Given the description of an element on the screen output the (x, y) to click on. 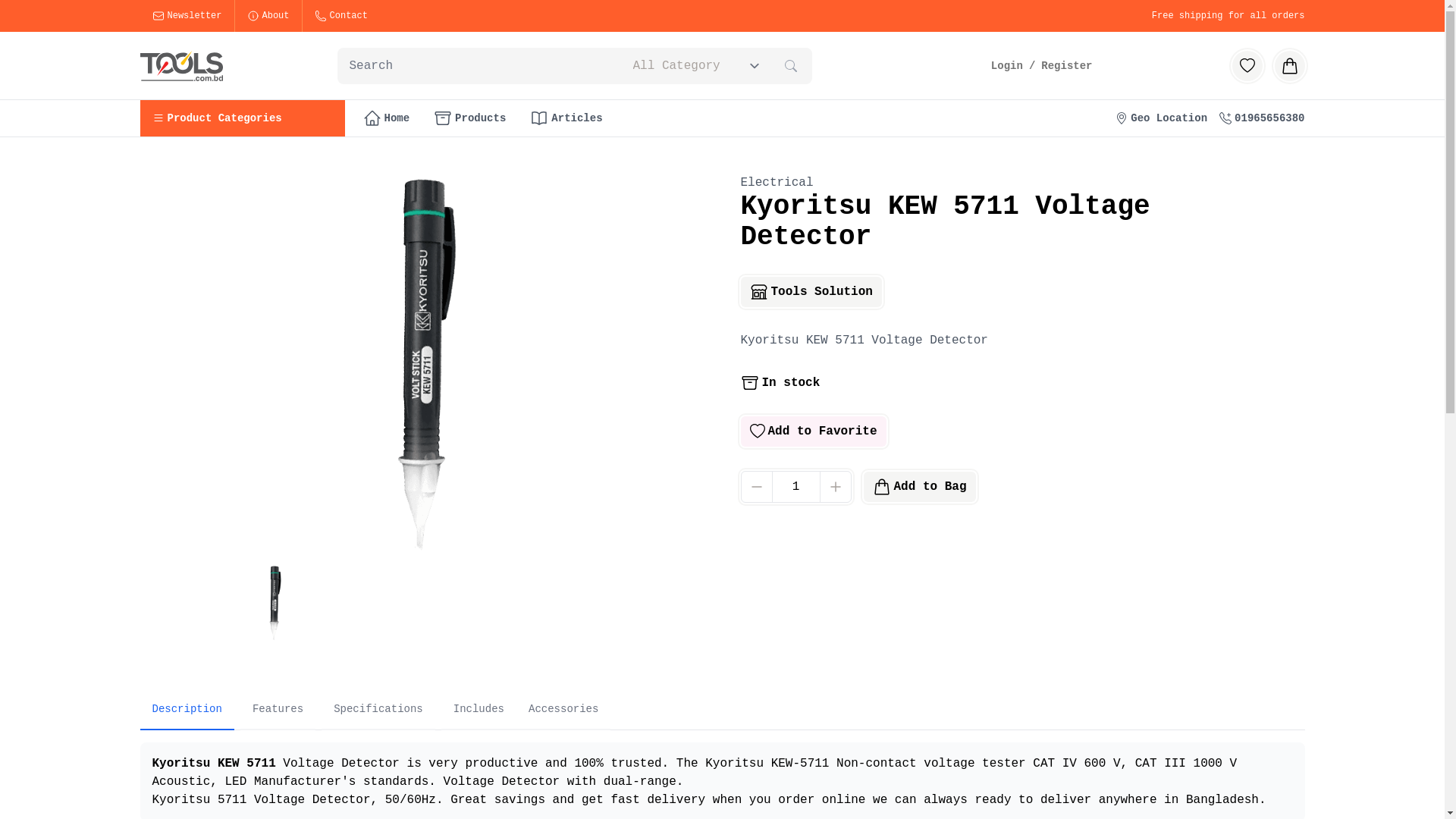
Home Element type: text (385, 118)
Add to Bag Element type: text (918, 486)
Electrical Element type: text (776, 182)
Specifications Element type: text (378, 709)
Register Element type: text (1066, 64)
Articles Element type: text (566, 118)
Accessories Element type: text (563, 709)
Add to Favorite Element type: text (812, 431)
Products Element type: text (469, 118)
Newsletter Element type: text (186, 15)
01965656380 Element type: text (1261, 117)
Description Element type: text (186, 709)
About Element type: text (267, 15)
Geo Location Element type: text (1161, 117)
Login Element type: text (1006, 64)
Features Element type: text (277, 709)
Includes Element type: text (478, 709)
Contact Element type: text (340, 15)
